Given the description of an element on the screen output the (x, y) to click on. 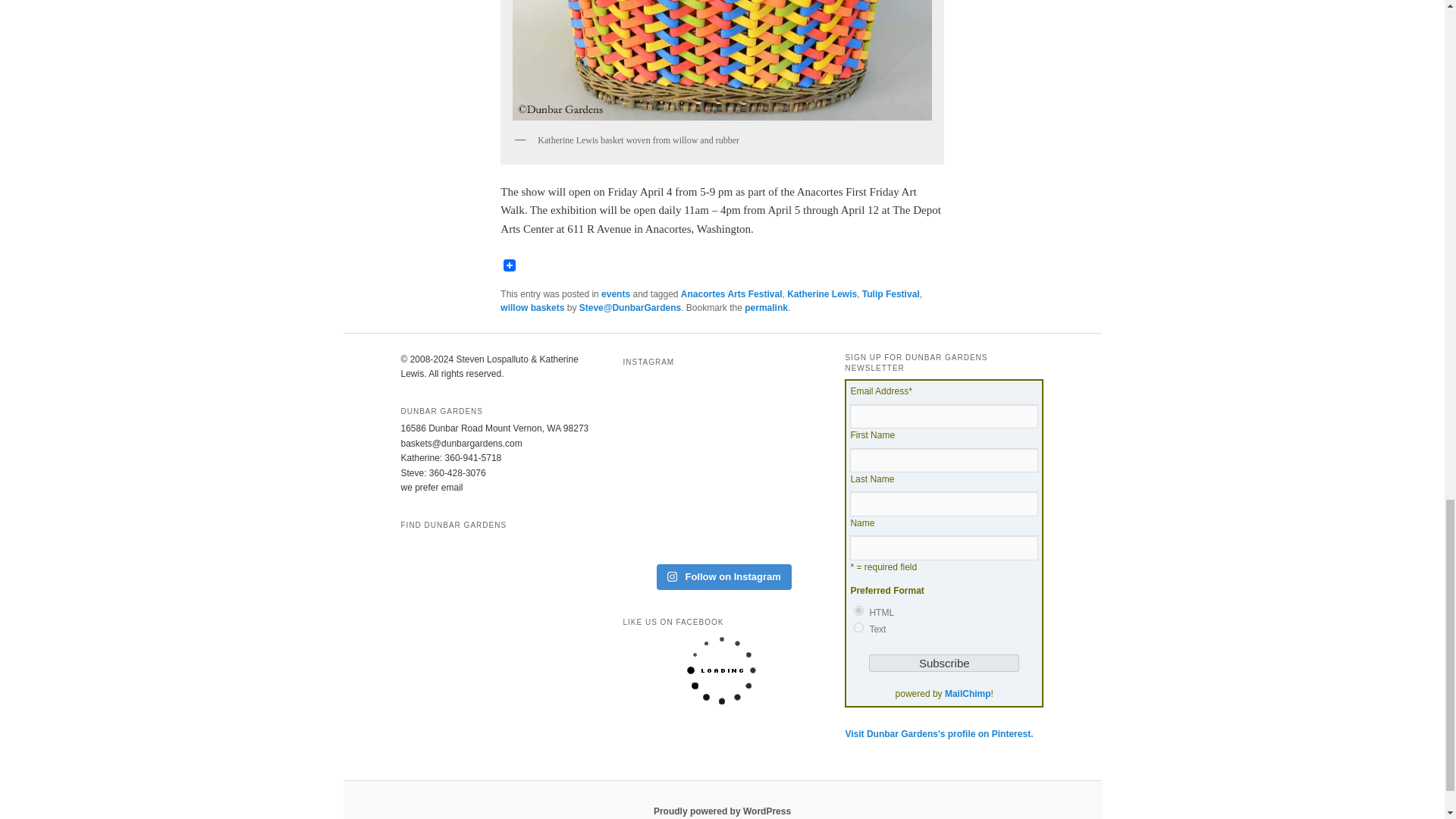
text (858, 627)
Subscribe (944, 662)
willow baskets (532, 307)
html (858, 610)
Tulip Festival (890, 294)
events (615, 294)
Katherine Lewis (822, 294)
permalink (765, 307)
Permalink to Anacortes Best of the Fest 2014 (765, 307)
Anacortes Arts Festival (732, 294)
